Given the description of an element on the screen output the (x, y) to click on. 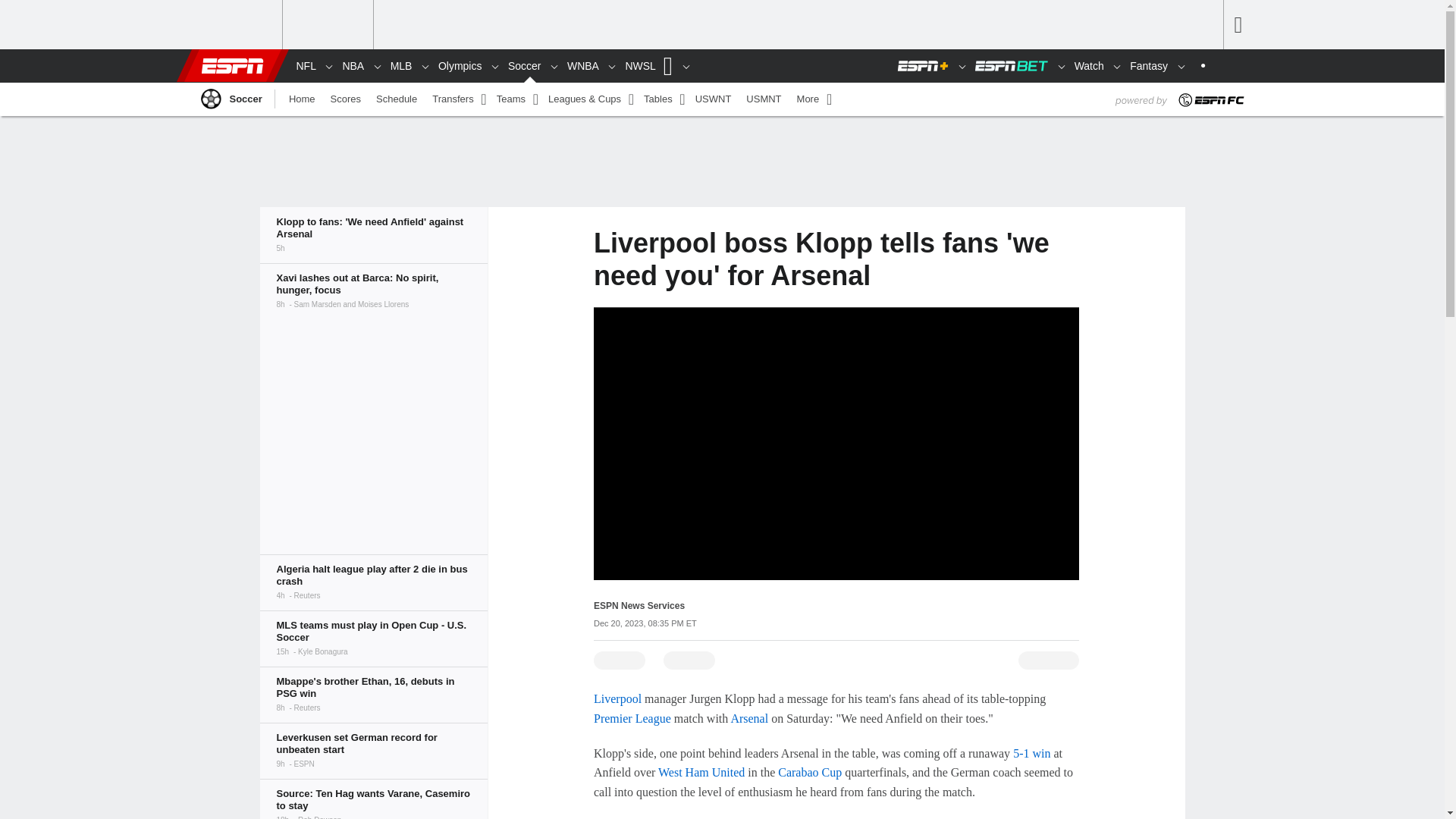
Soccer (209, 97)
ESPN (231, 65)
ESPN Video (836, 443)
